Given the description of an element on the screen output the (x, y) to click on. 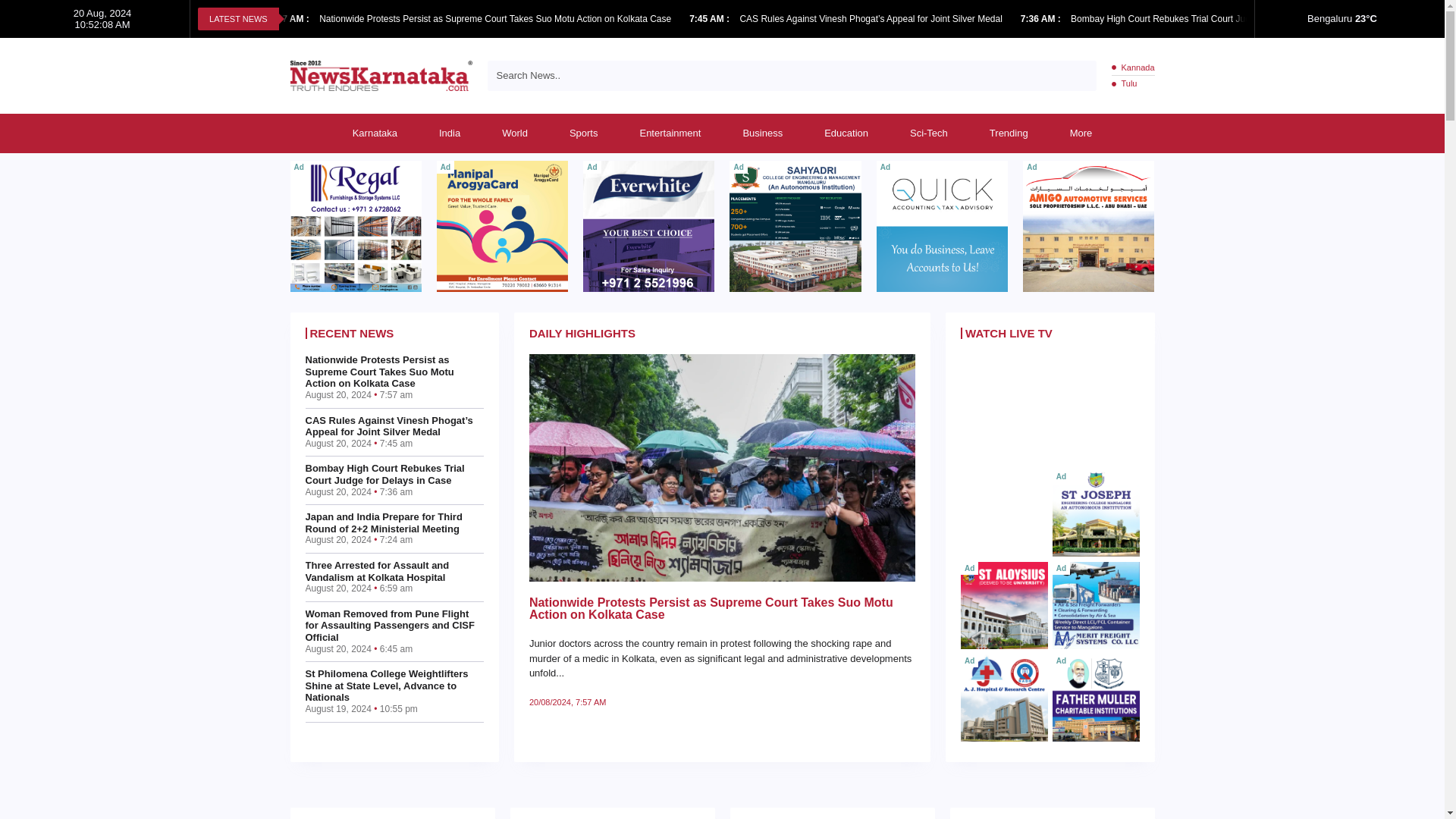
Published on: August 20, 2024 7:57 am (290, 18)
Published on: August 20, 2024 7:45 am (710, 18)
Published on: August 20, 2024 7:36 am (1041, 18)
